Given the description of an element on the screen output the (x, y) to click on. 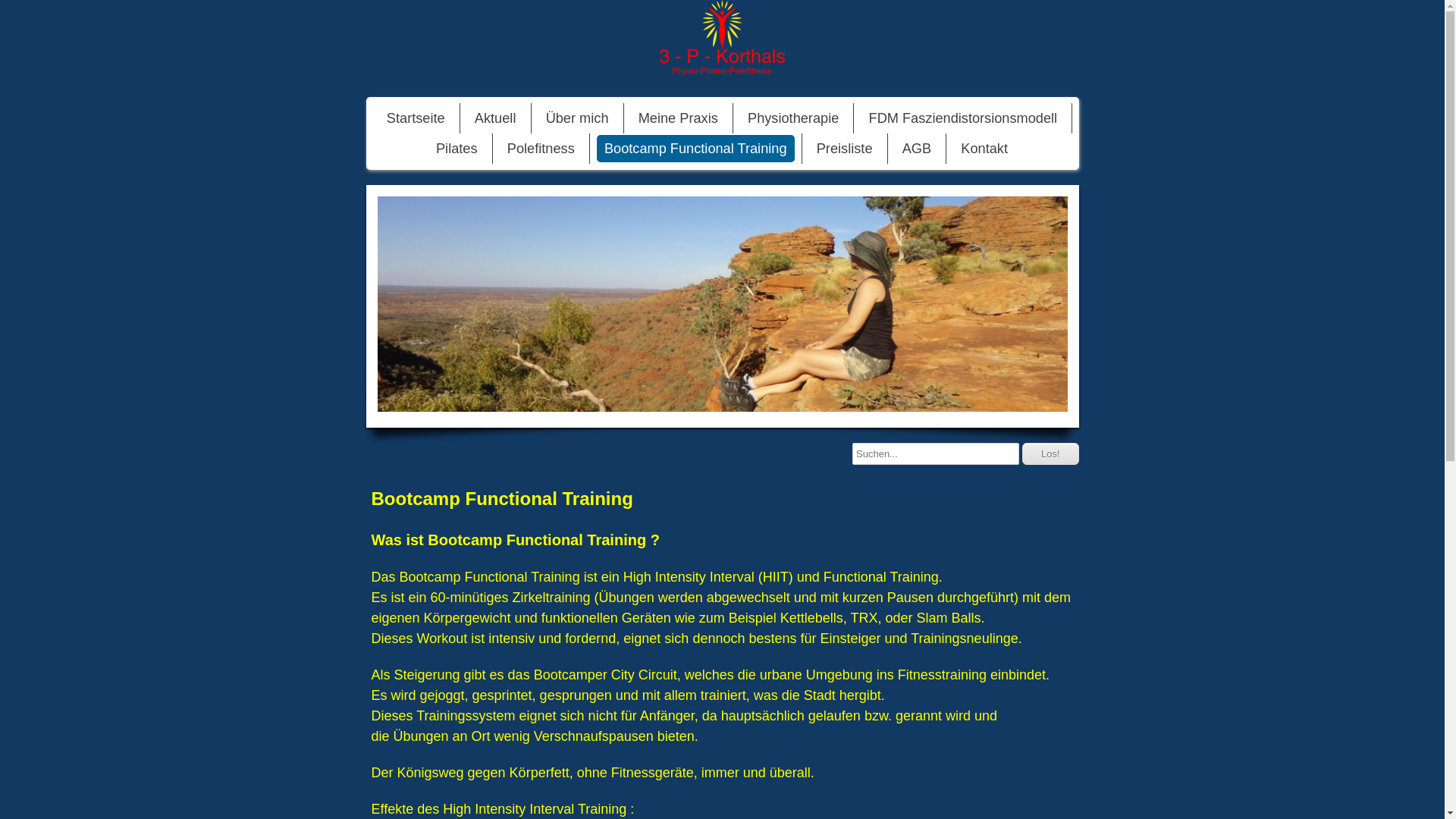
Kontakt Element type: text (984, 148)
Pilates Element type: text (456, 148)
Los! Element type: text (1050, 453)
Preisliste Element type: text (844, 148)
Startseite Element type: text (415, 117)
Physiotherapie Element type: text (793, 117)
Meine Praxis Element type: text (677, 117)
Bootcamp Functional Training Element type: text (695, 148)
AGB Element type: text (916, 148)
Polefitness Element type: text (540, 148)
FDM Fasziendistorsionsmodell Element type: text (963, 117)
Aktuell Element type: text (495, 117)
